Given the description of an element on the screen output the (x, y) to click on. 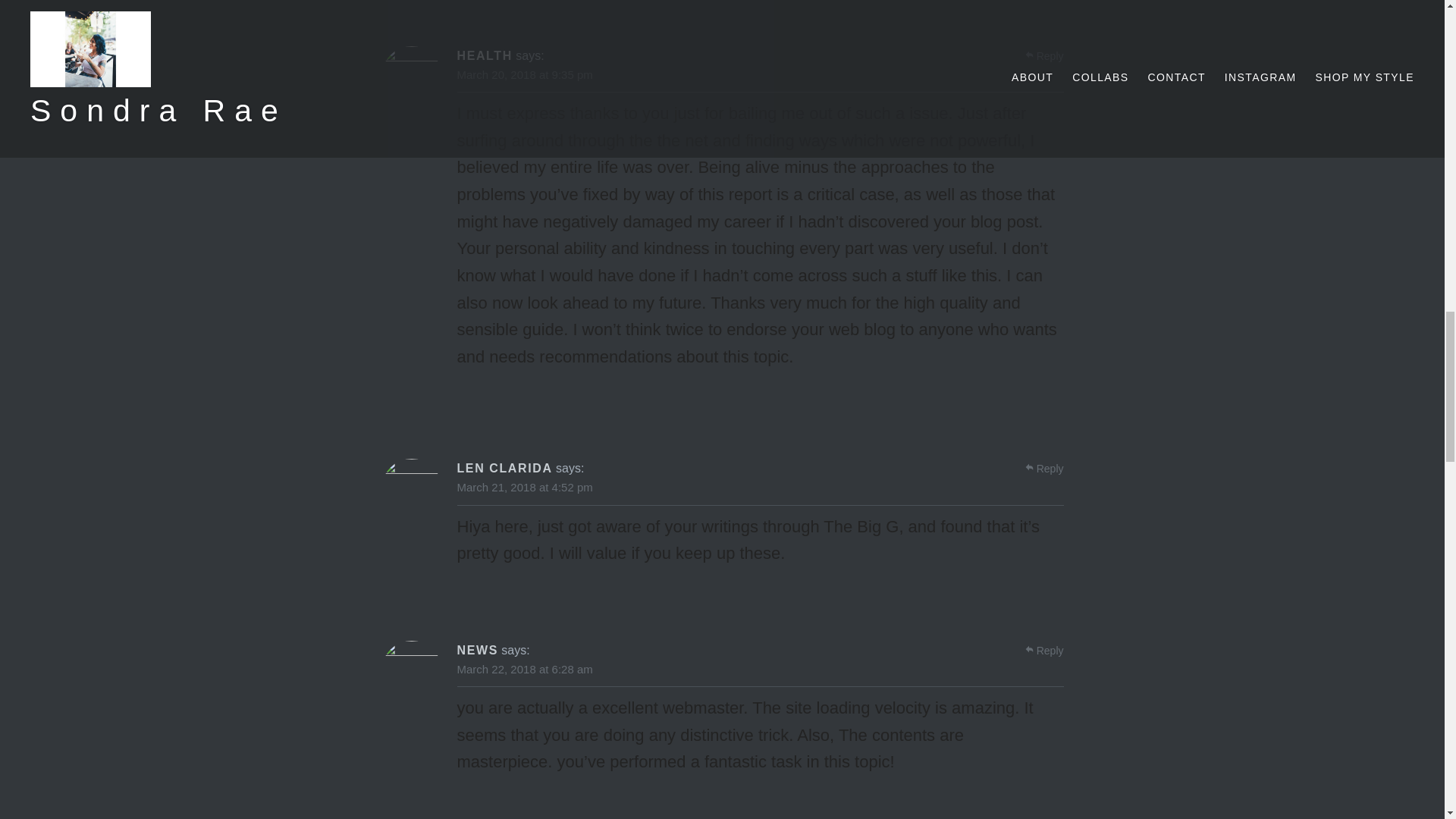
Reply (1050, 55)
Reply (1050, 650)
March 21, 2018 at 4:52 pm (524, 486)
March 22, 2018 at 6:28 am (524, 668)
March 20, 2018 at 9:35 pm (524, 74)
NEWS (477, 649)
LEN CLARIDA (504, 468)
HEALTH (484, 55)
Reply (1050, 468)
